Given the description of an element on the screen output the (x, y) to click on. 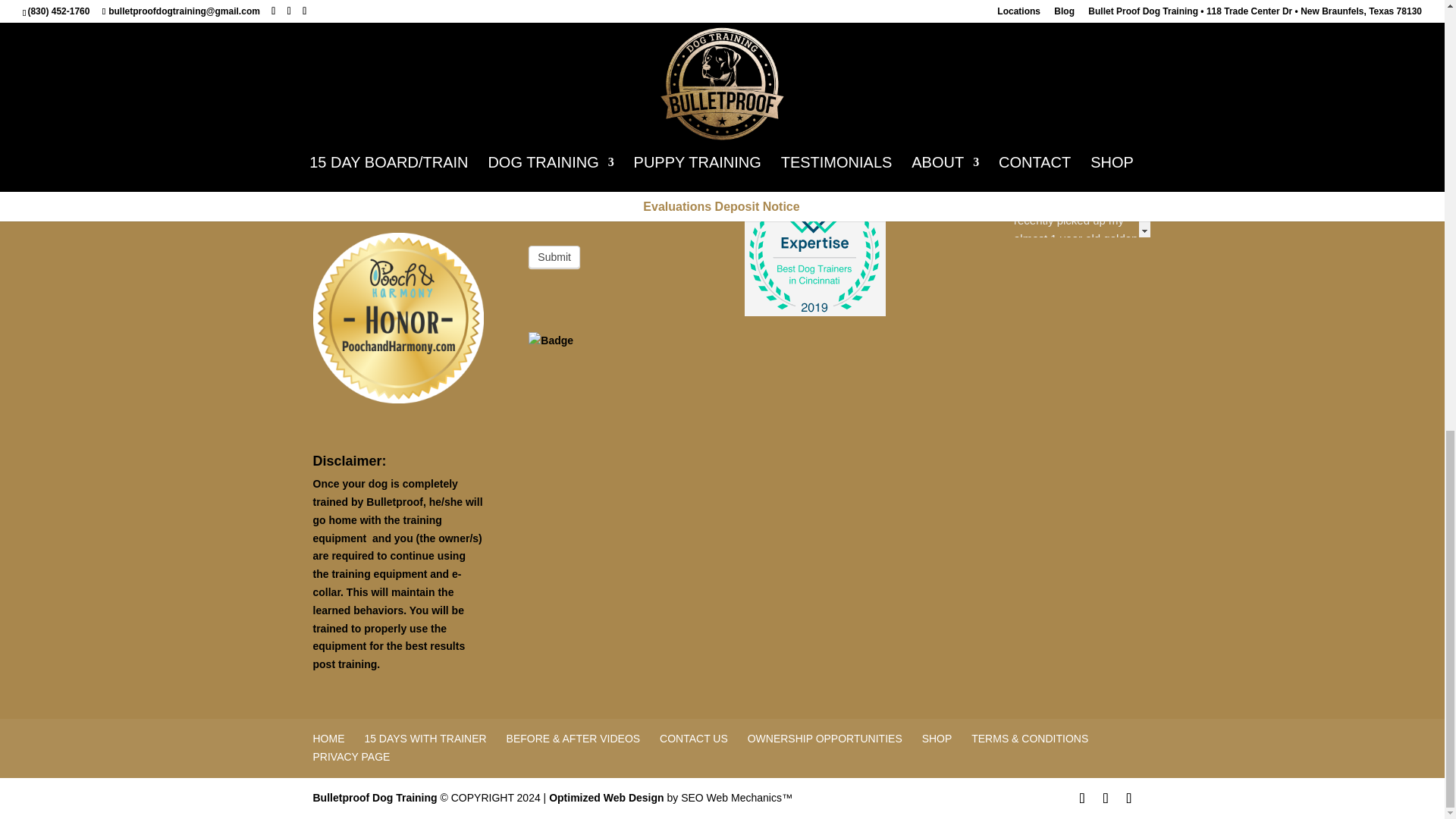
Amanda North (979, 519)
Paige Silverberg (979, 181)
Erin Koeninger (979, 15)
Jeff Cook (979, 351)
Teag Gerke (979, 689)
Dog Board and Train in New Braunfels Texas (374, 797)
I Agree to Receive SMS (534, 46)
